Given the description of an element on the screen output the (x, y) to click on. 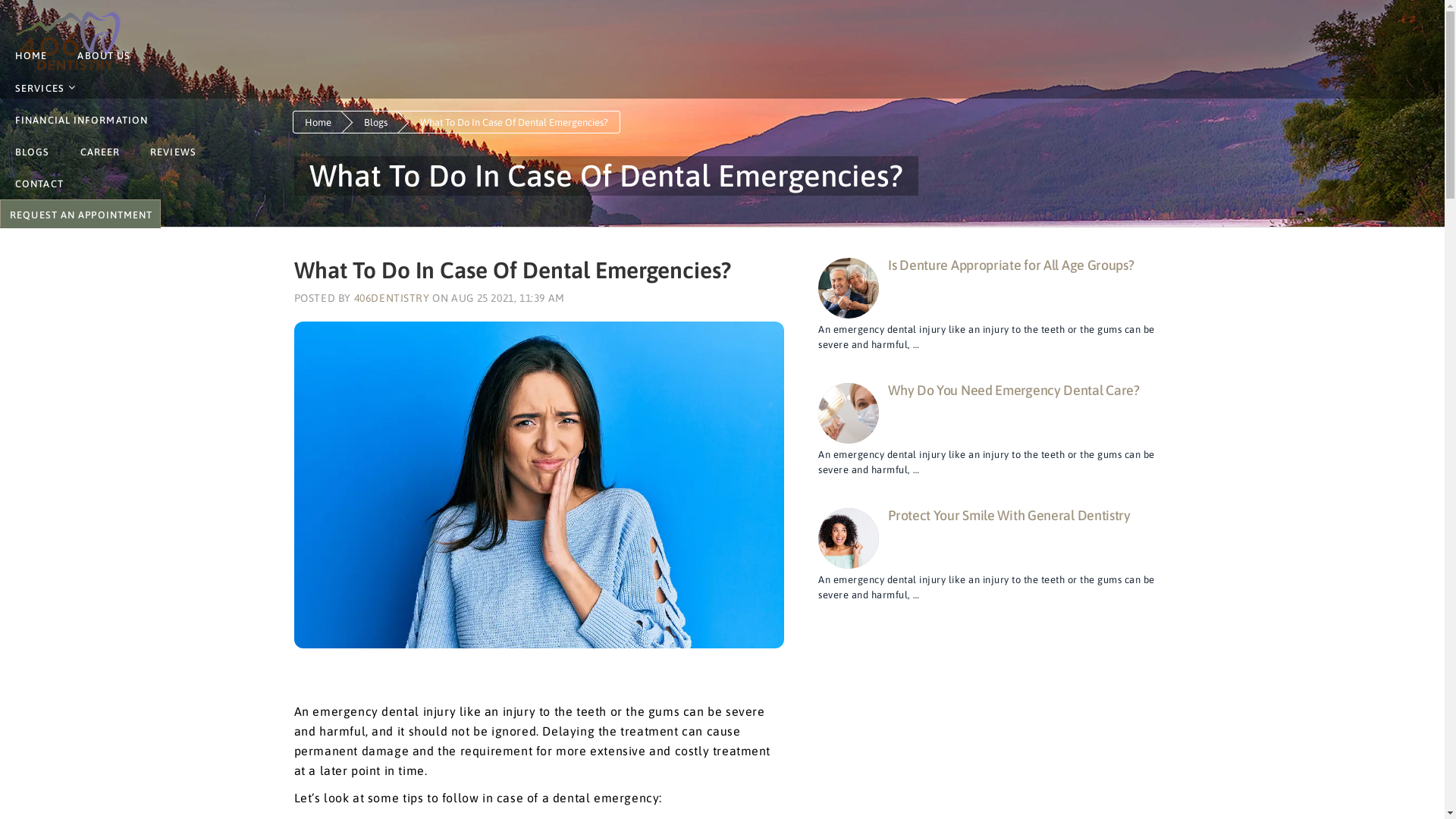
SERVICES Element type: text (43, 87)
Blogs Element type: text (375, 122)
FINANCIAL INFORMATION Element type: text (81, 119)
406DENTISTRY Element type: text (391, 297)
BOOK ONLINE Element type: text (80, 213)
ABOUT US Element type: text (103, 55)
CONTACT Element type: text (39, 183)
Home Element type: text (317, 122)
BLOGS Element type: text (32, 151)
REVIEWS Element type: text (172, 151)
CAREER Element type: text (100, 151)
HOME Element type: text (31, 55)
